Given the description of an element on the screen output the (x, y) to click on. 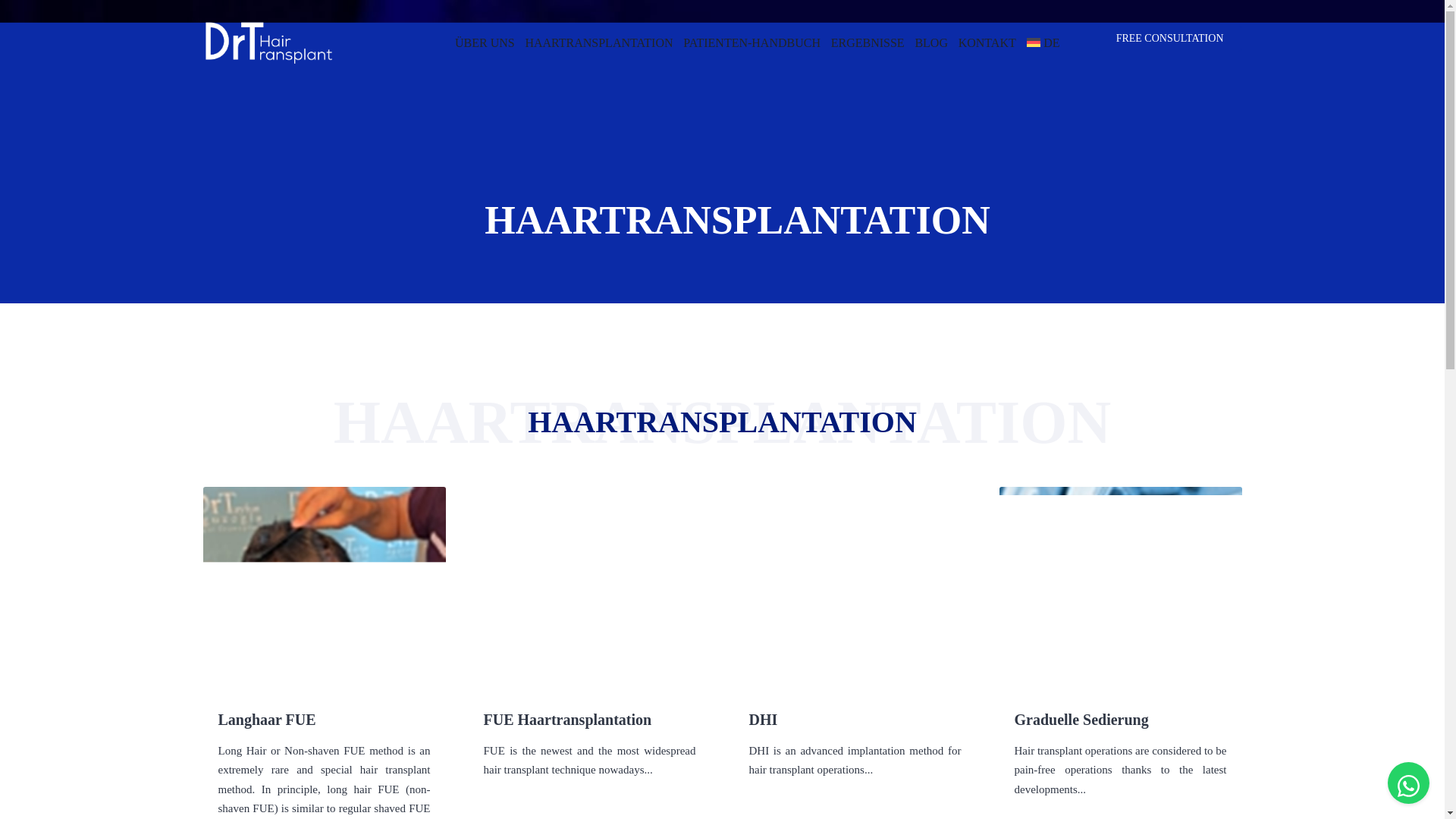
KONTAKT (987, 42)
FREE CONSULTATION (1169, 38)
DE (1042, 42)
HAARTRANSPLANTATION (598, 42)
BLOG (930, 42)
PATIENTEN-HANDBUCH (751, 42)
DE (1042, 42)
ERGEBNISSE (867, 42)
